Given the description of an element on the screen output the (x, y) to click on. 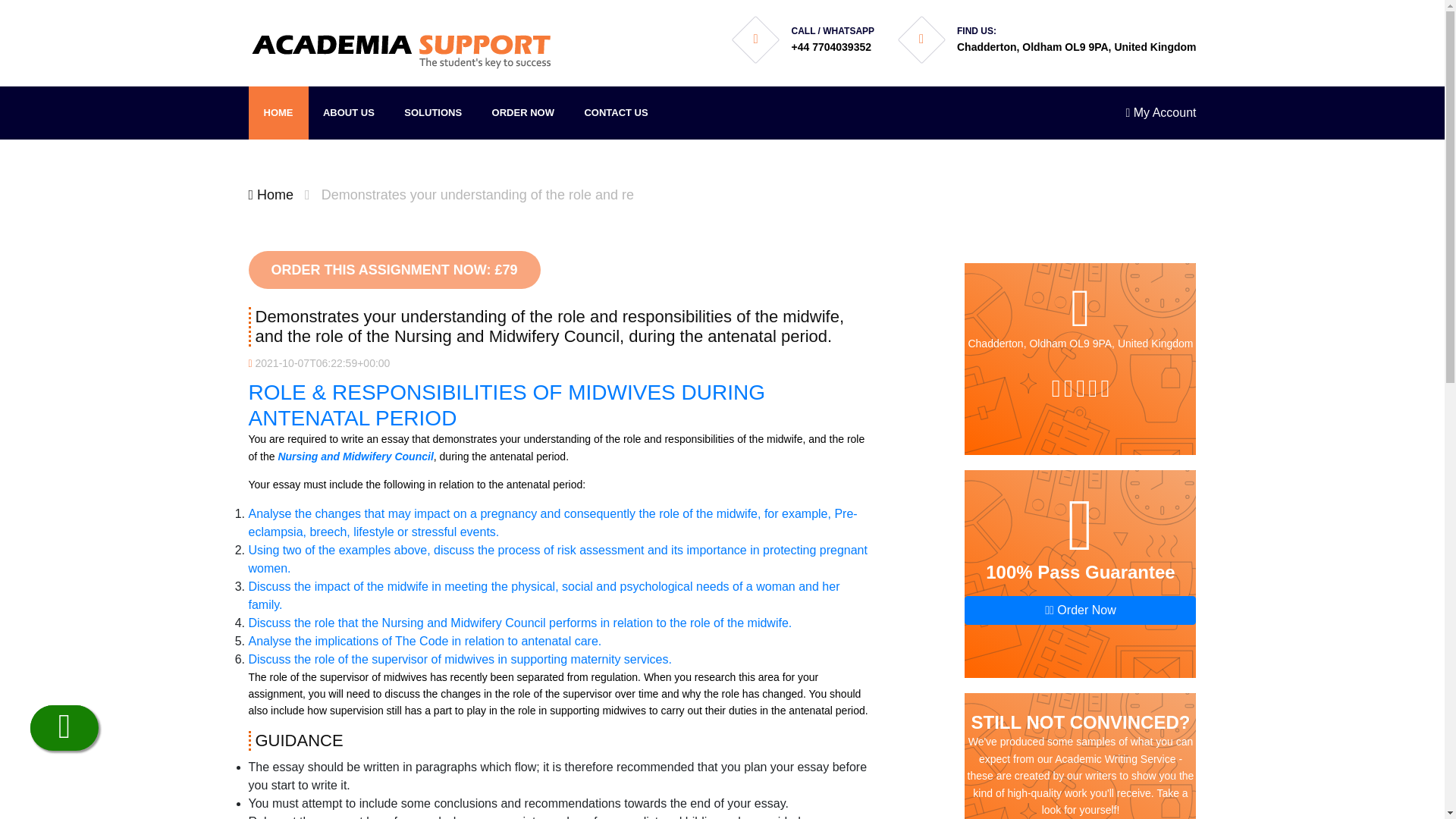
ORDER NOW (523, 112)
ABOUT US (348, 112)
My Account (1160, 112)
CONTACT US (615, 112)
HOME (278, 112)
Home (271, 193)
